Given the description of an element on the screen output the (x, y) to click on. 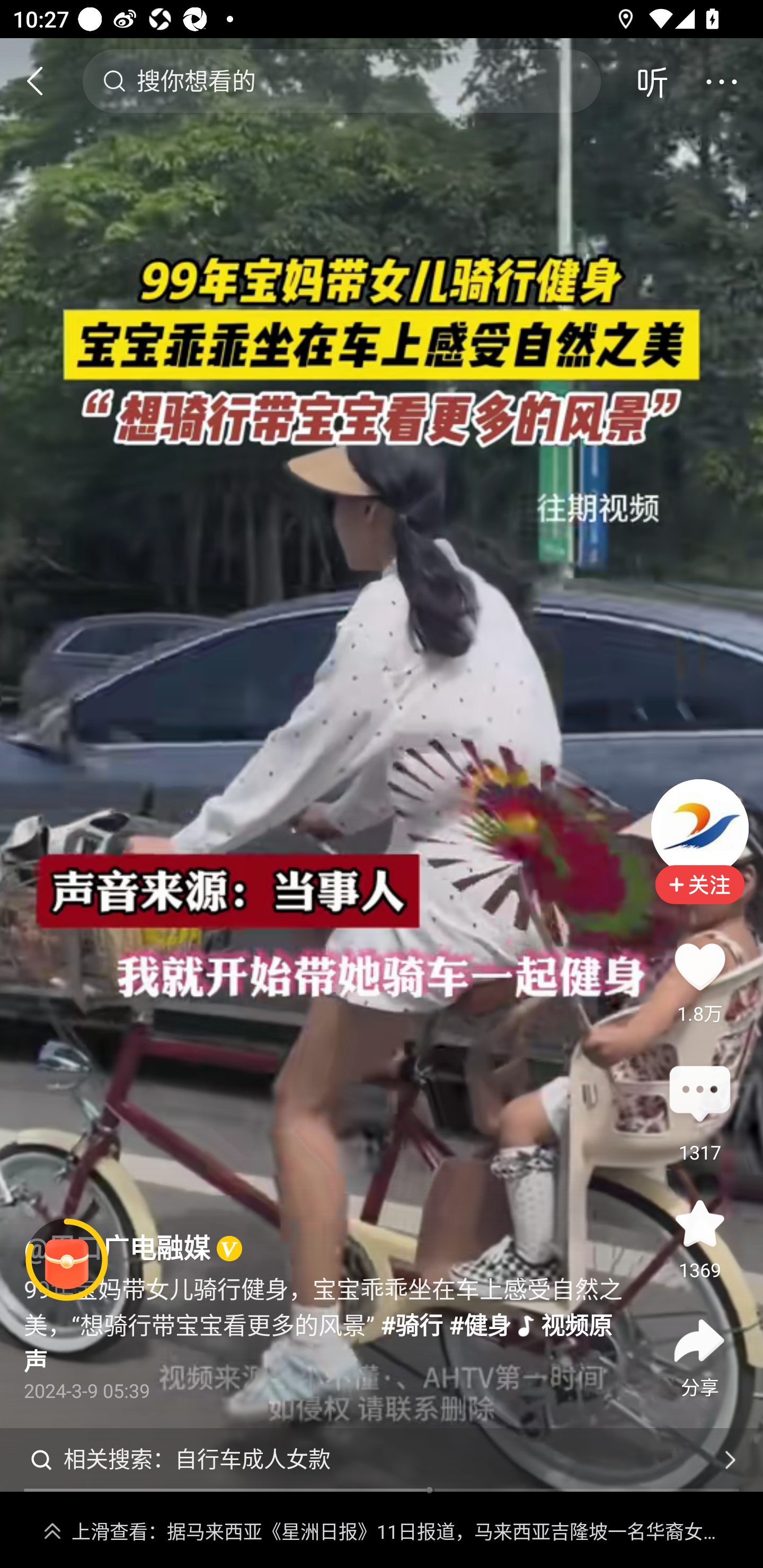
搜你想看的 搜索框，搜你想看的 (341, 80)
返回 (43, 80)
音频 (651, 80)
更多操作 (720, 80)
头像 (699, 827)
加关注 (699, 897)
点赞18910 1.8万 (699, 966)
评论1317 评论 1317 (699, 1095)
收藏 1369 (699, 1223)
阅读赚金币 (66, 1259)
分享 (699, 1341)
相关搜索：自行车成人女款 (381, 1459)
